Given the description of an element on the screen output the (x, y) to click on. 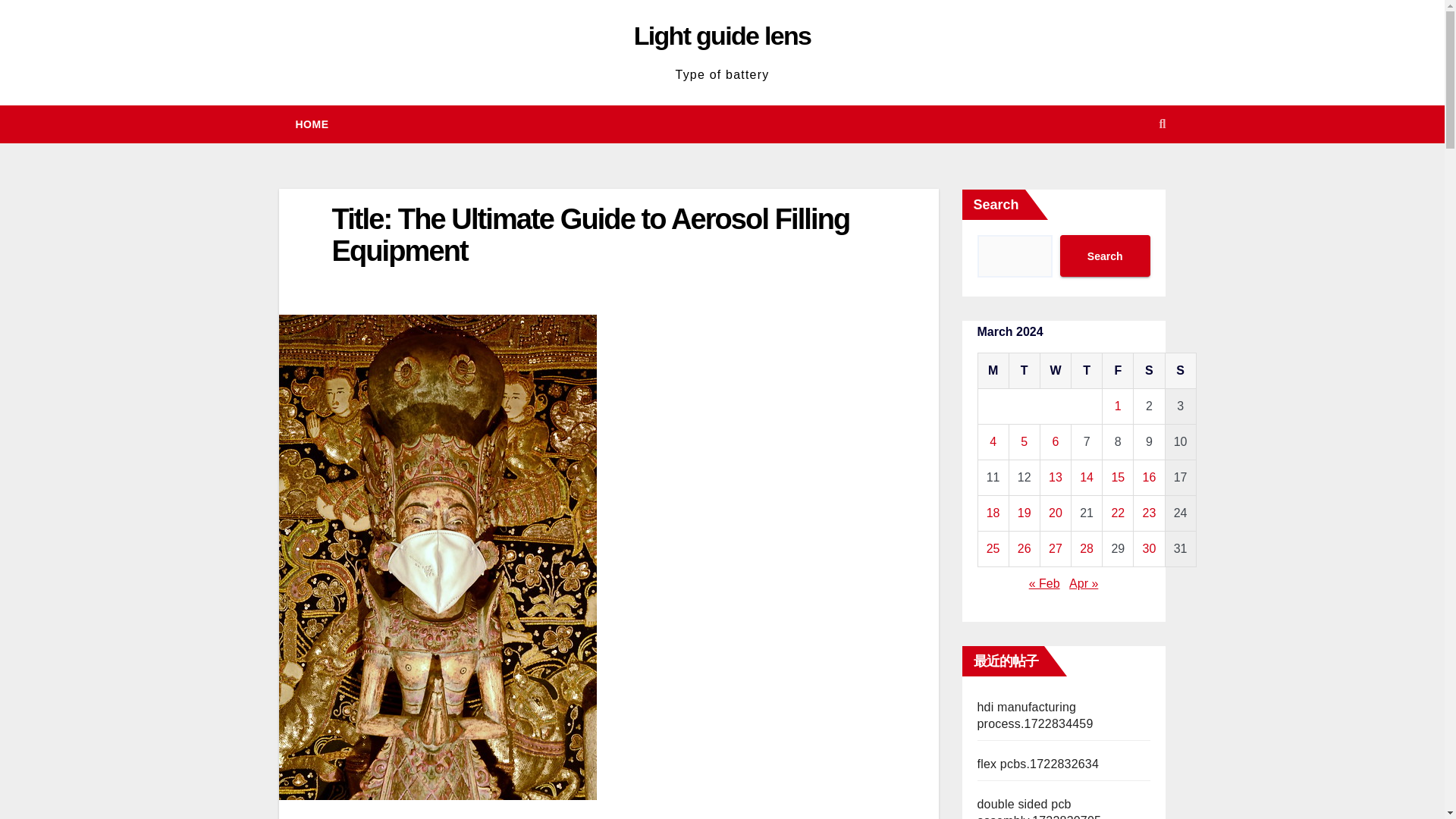
13 (1055, 477)
Home (312, 124)
Search (1104, 255)
Light guide lens (721, 35)
HOME (312, 124)
Title: The Ultimate Guide to Aerosol Filling Equipment (590, 234)
